Given the description of an element on the screen output the (x, y) to click on. 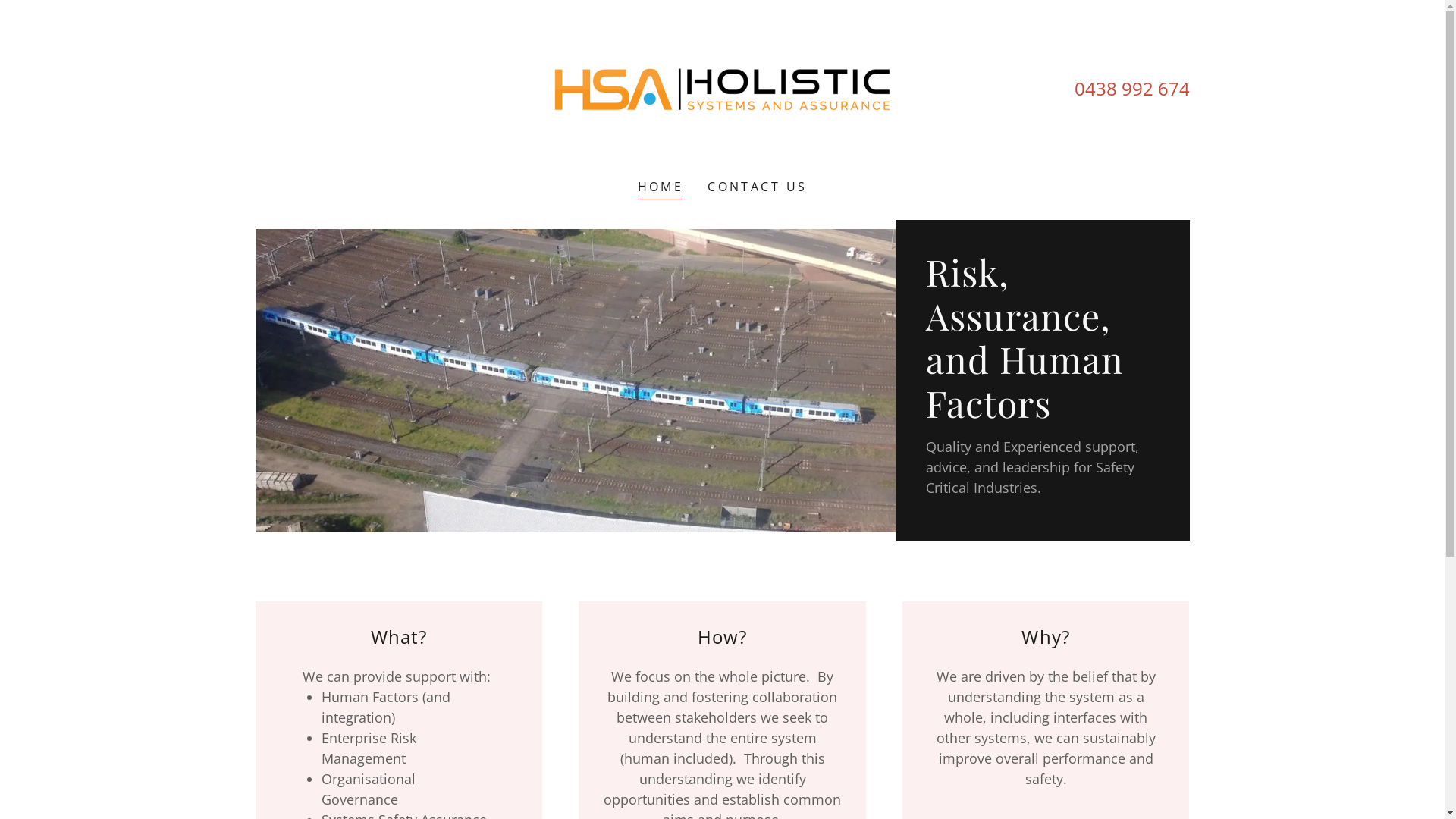
Holistic Systems and Assurance Pty Ltd Element type: hover (722, 88)
HOME Element type: text (660, 188)
CONTACT US Element type: text (756, 186)
0438 992 674 Element type: text (1131, 87)
